Given the description of an element on the screen output the (x, y) to click on. 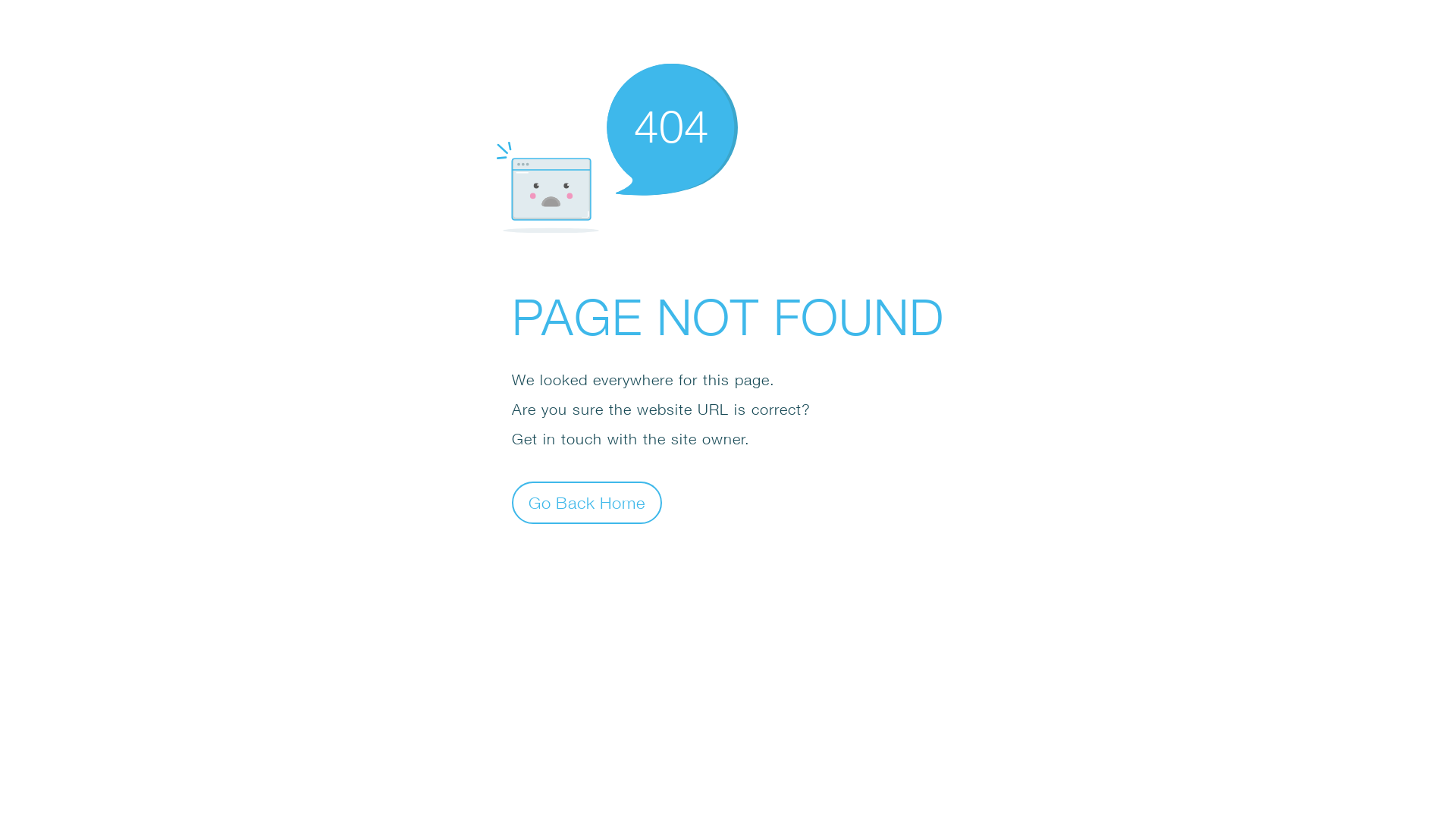
Go Back Home Element type: text (586, 502)
